Given the description of an element on the screen output the (x, y) to click on. 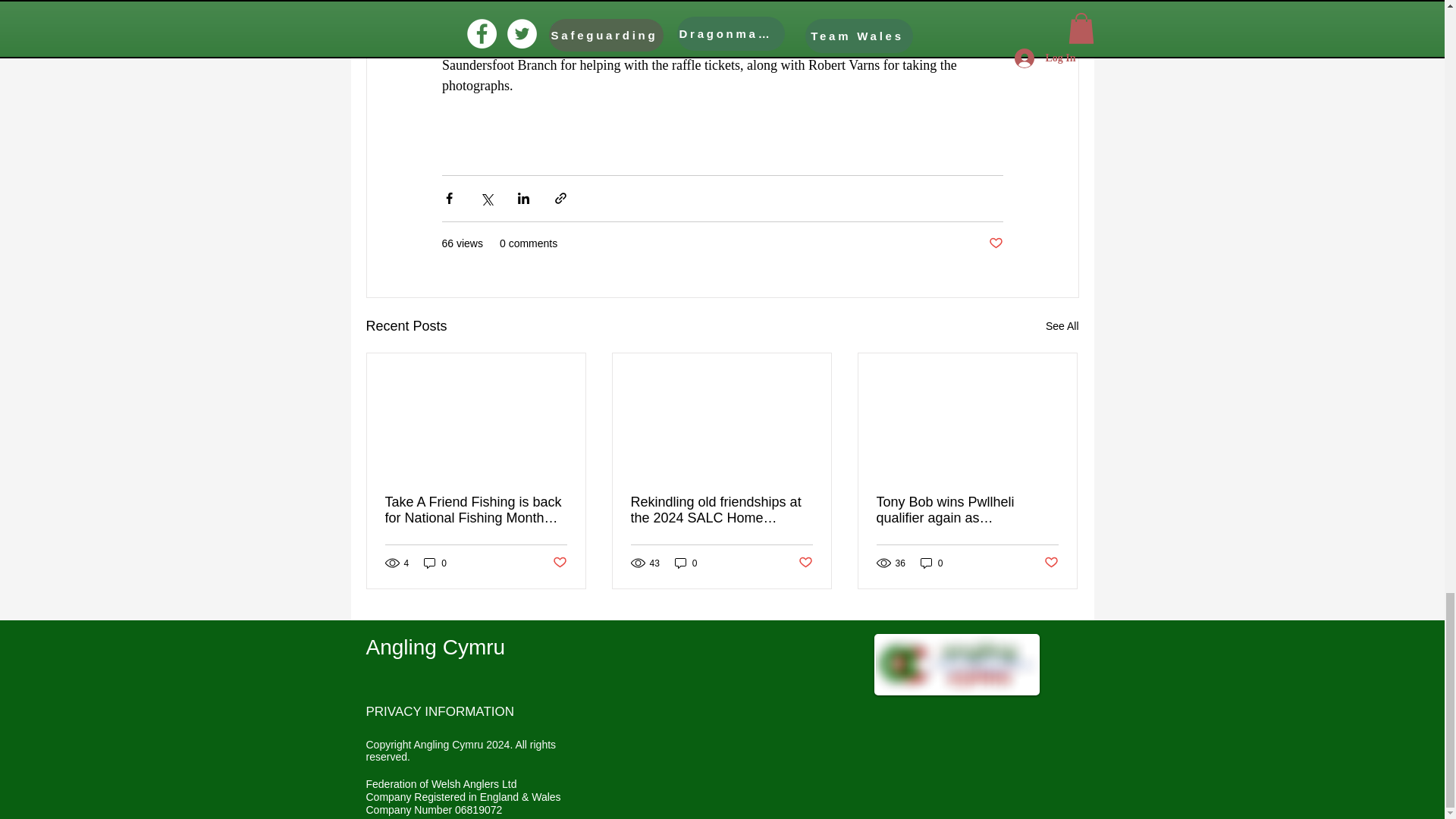
0 (931, 563)
0 (435, 563)
Post not marked as liked (995, 243)
0 (685, 563)
Post not marked as liked (1050, 562)
Post not marked as liked (804, 562)
See All (1061, 326)
Post not marked as liked (558, 562)
